Given the description of an element on the screen output the (x, y) to click on. 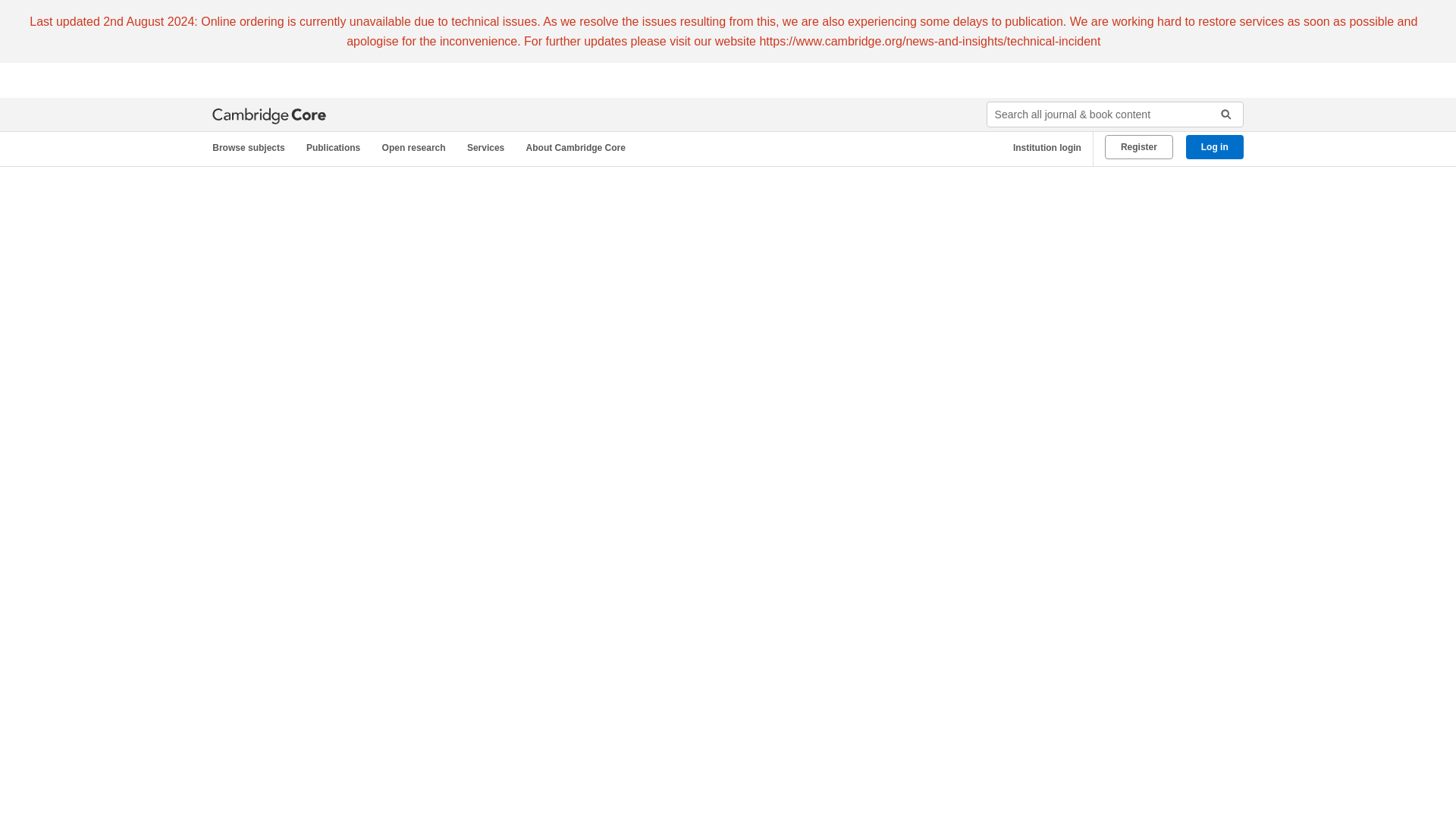
Open research (417, 147)
Institution login (1041, 147)
Submit search (1221, 114)
Log in (1214, 146)
Register (1139, 146)
Publications (336, 147)
About Cambridge Core (579, 147)
Submit search (1221, 114)
Browse subjects (255, 147)
Services (489, 147)
